Given the description of an element on the screen output the (x, y) to click on. 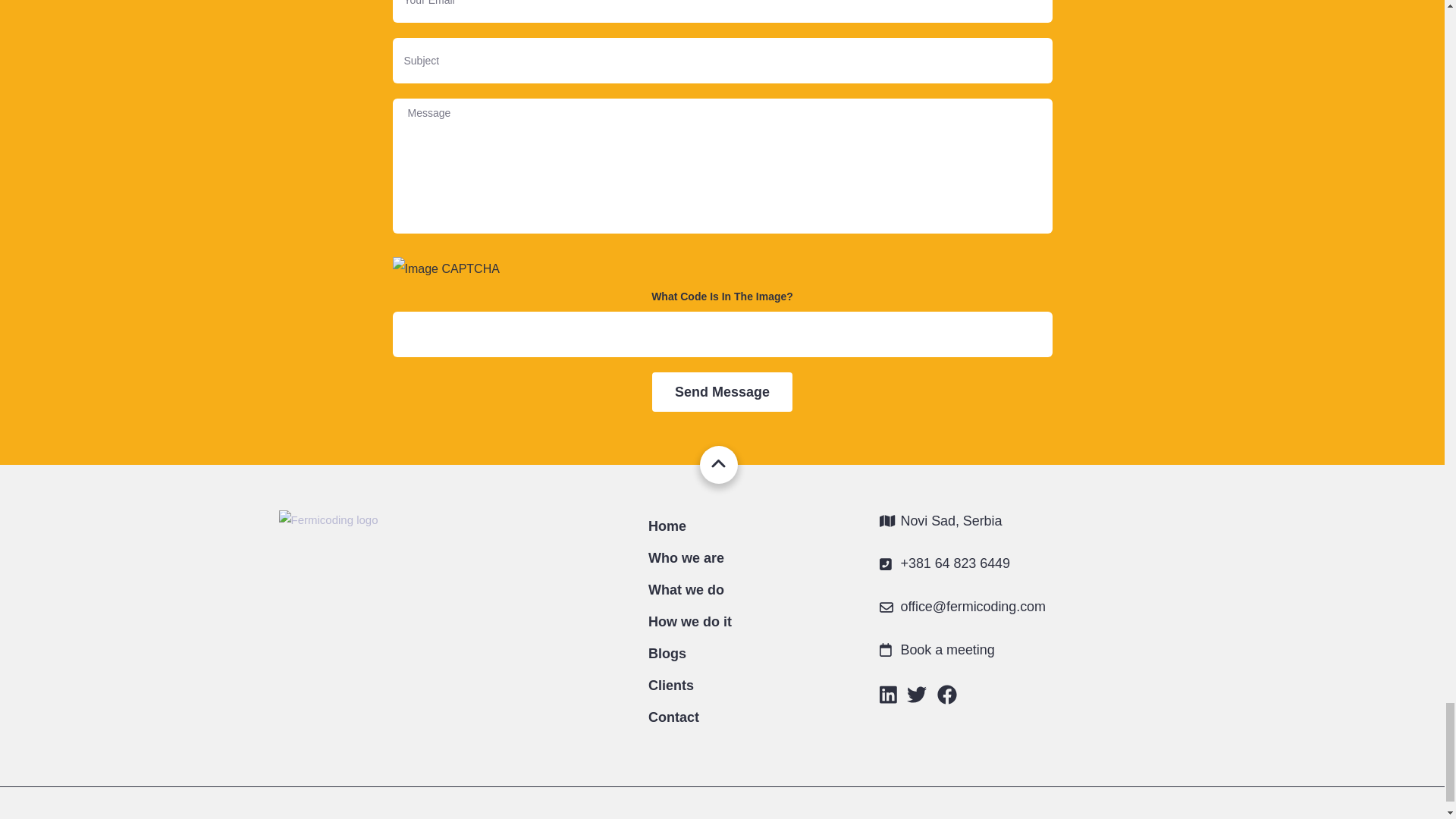
Image CAPTCHA (722, 269)
Follov us on LinkedIn (887, 697)
Send Message (722, 391)
Follow us on Facebook (946, 697)
Follow us on Twitter (916, 697)
